Given the description of an element on the screen output the (x, y) to click on. 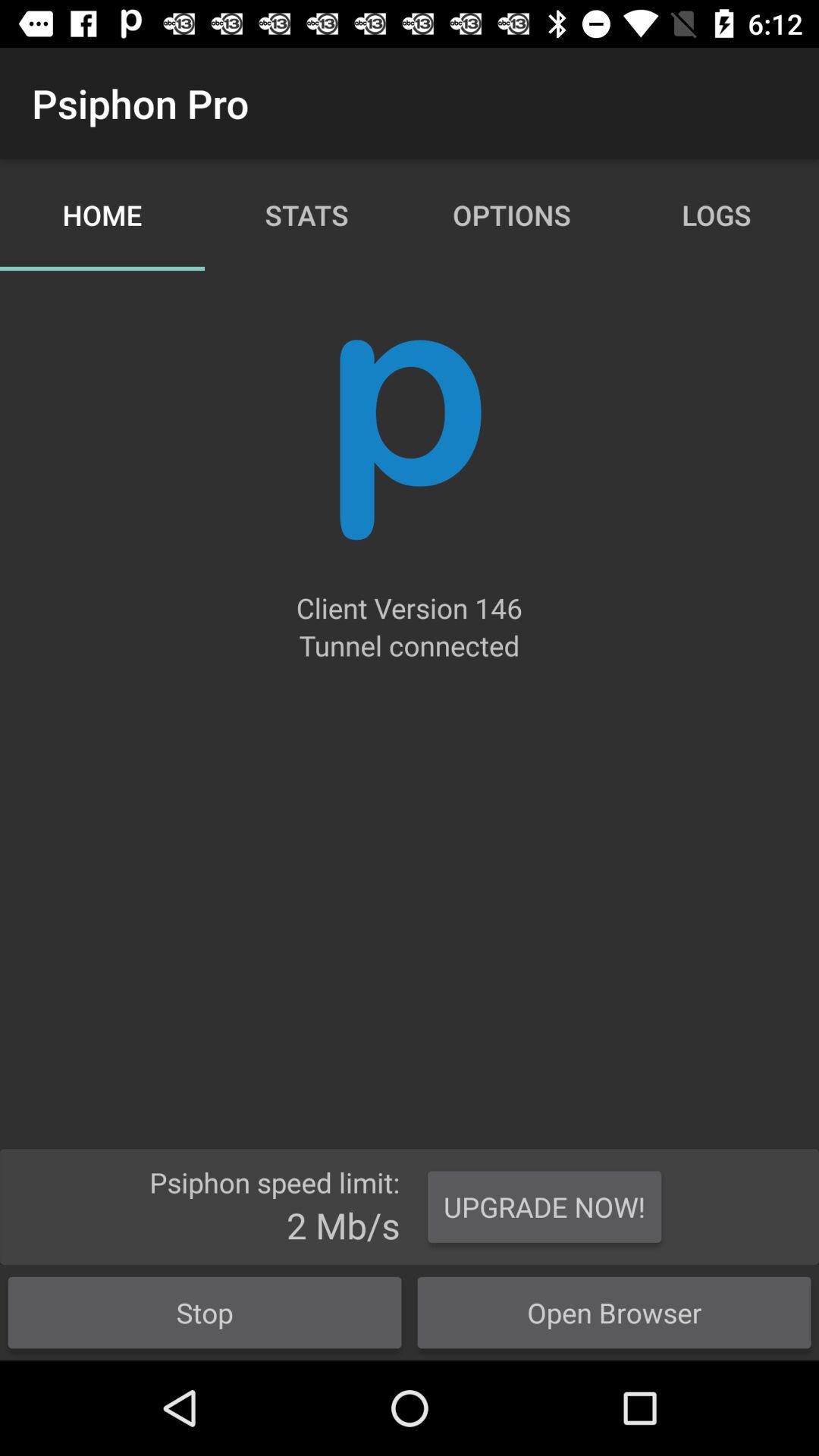
select the item below tunnel connected app (544, 1206)
